Given the description of an element on the screen output the (x, y) to click on. 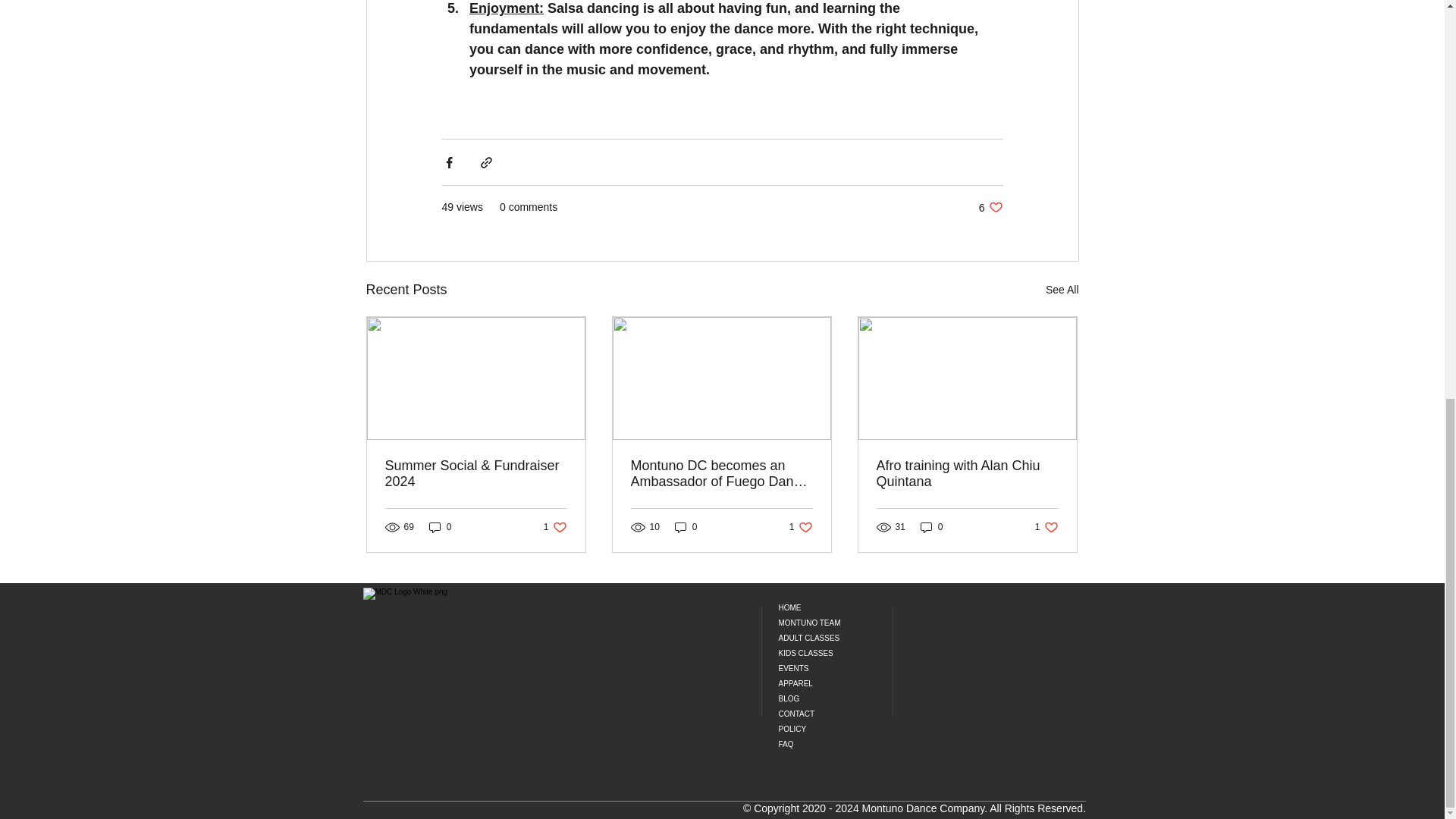
ADULT CLASSES (819, 638)
0 (800, 527)
Afro training with Alan Chiu Quintana (931, 527)
MONTUNO TEAM (990, 206)
Montuno DC becomes an Ambassador of Fuego Dance Shoes (967, 473)
0 (819, 622)
HOME (721, 473)
